Given the description of an element on the screen output the (x, y) to click on. 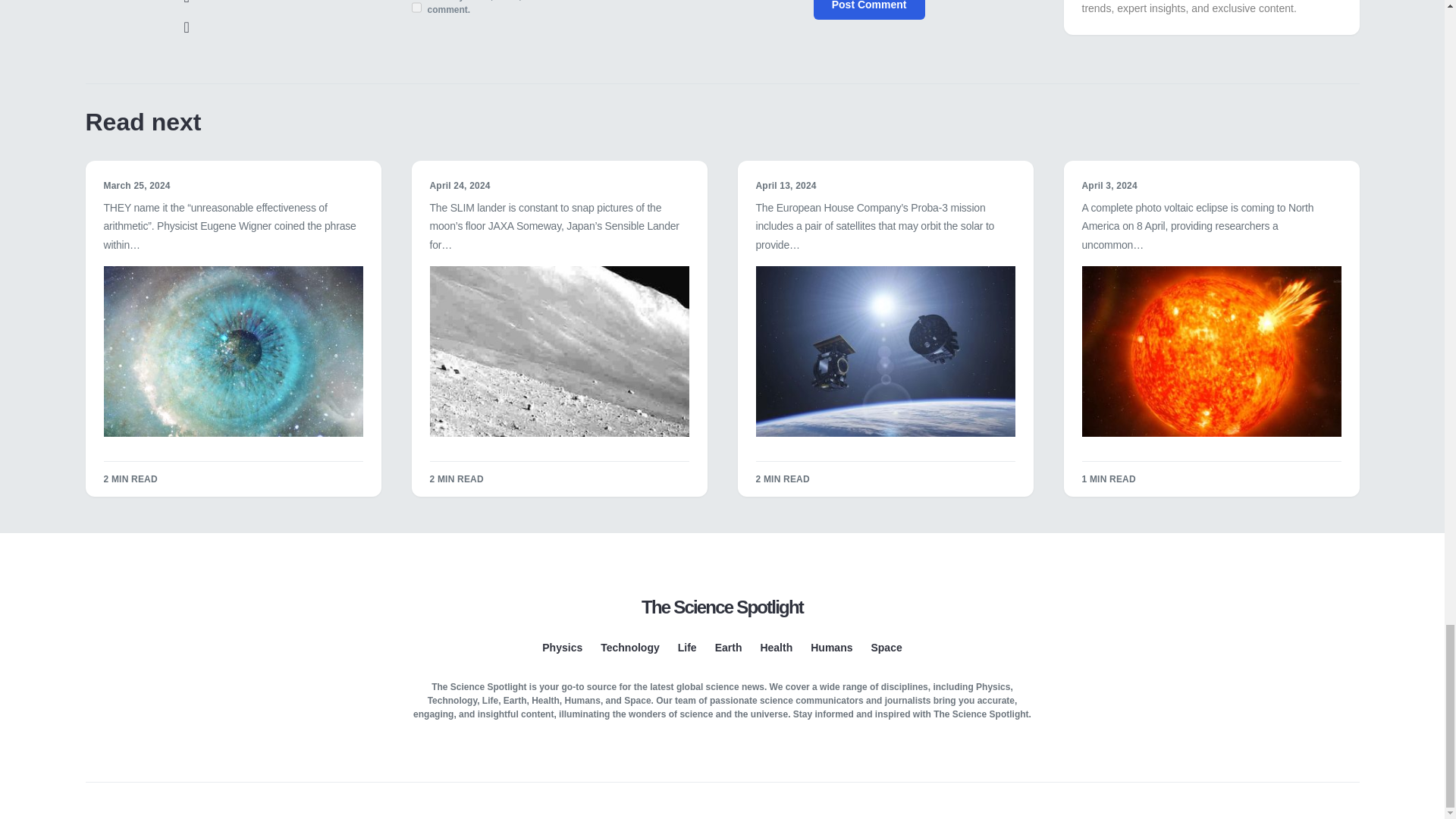
Post Comment (868, 9)
